Given the description of an element on the screen output the (x, y) to click on. 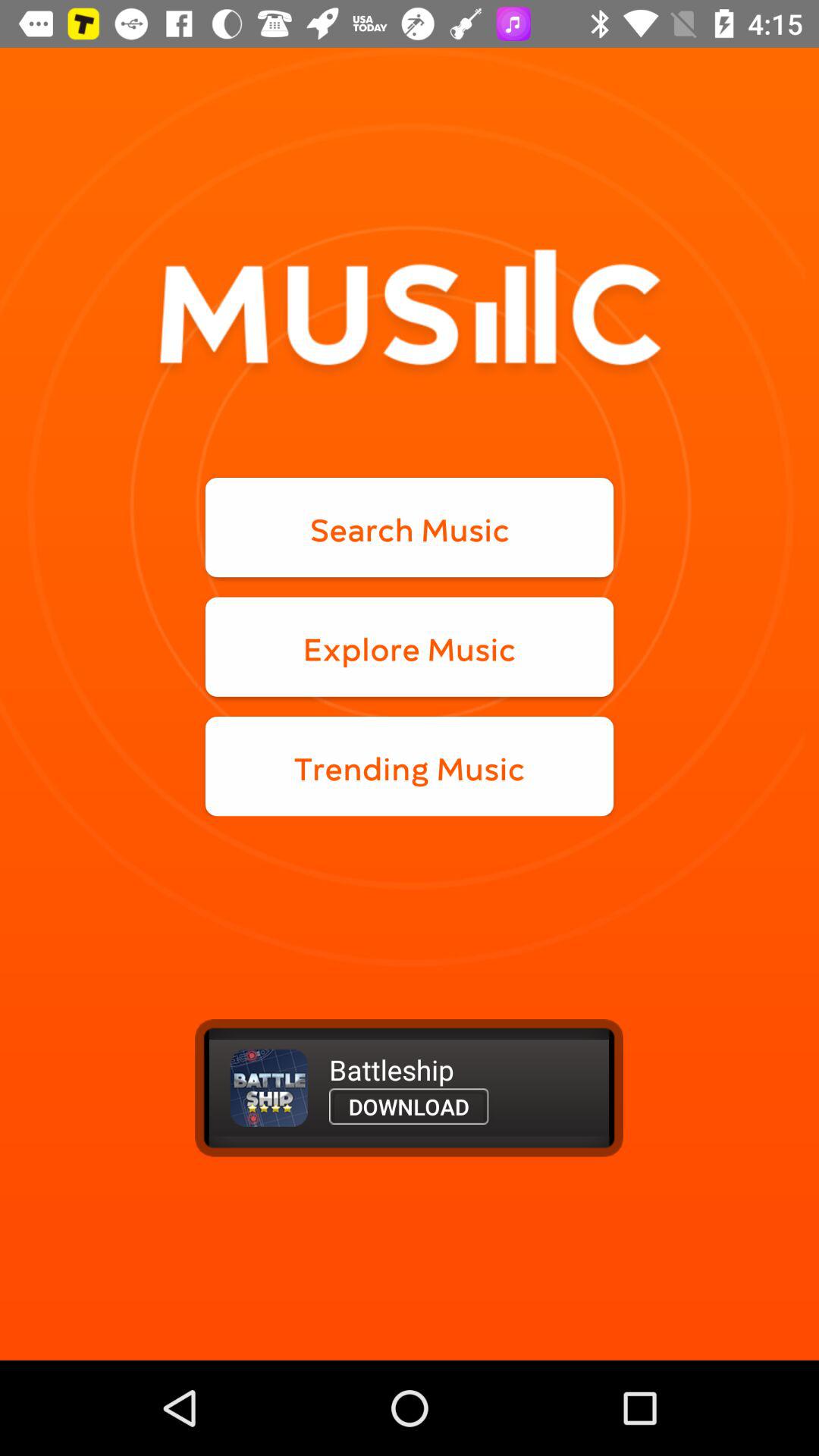
scroll until the trending music (409, 766)
